Given the description of an element on the screen output the (x, y) to click on. 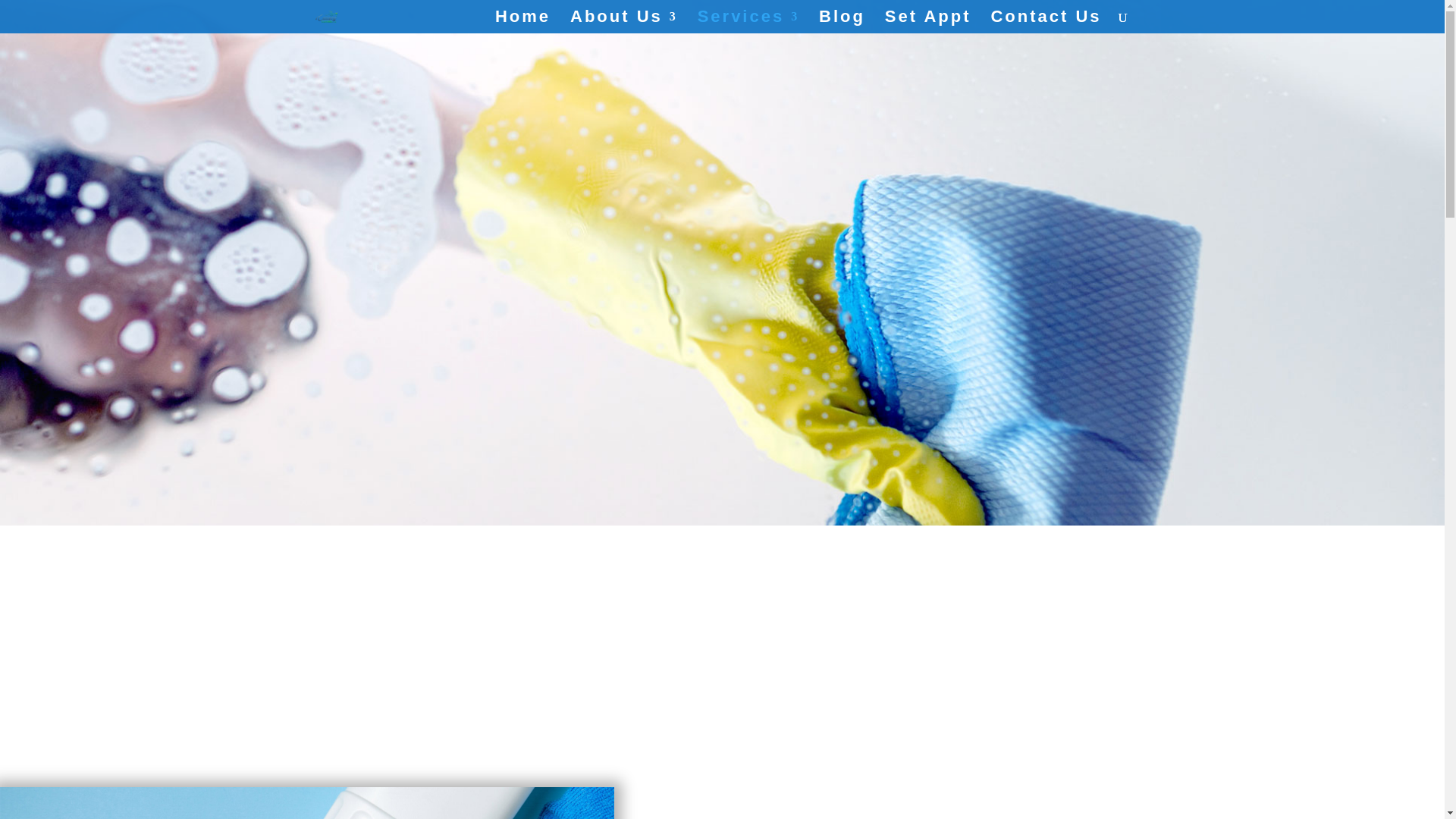
Contact Us (1045, 22)
Causey Banner 1 (307, 803)
Home (522, 22)
Blog (841, 22)
Set Appt (928, 22)
Services (748, 22)
About Us (624, 22)
